Given the description of an element on the screen output the (x, y) to click on. 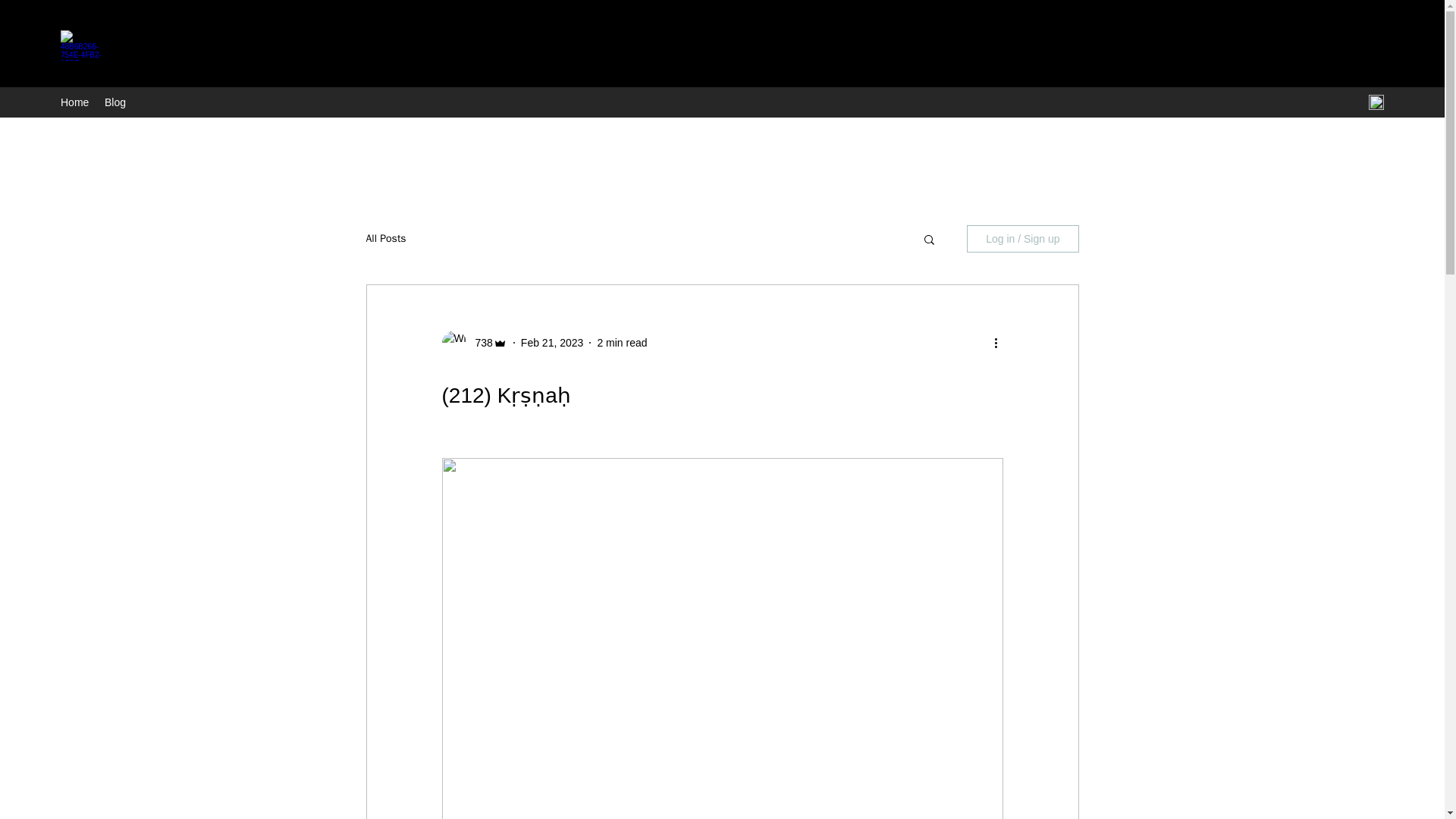
738 (478, 342)
Blog (115, 101)
Feb 21, 2023 (552, 342)
Home (74, 101)
2 min read (621, 342)
All Posts (385, 238)
